Given the description of an element on the screen output the (x, y) to click on. 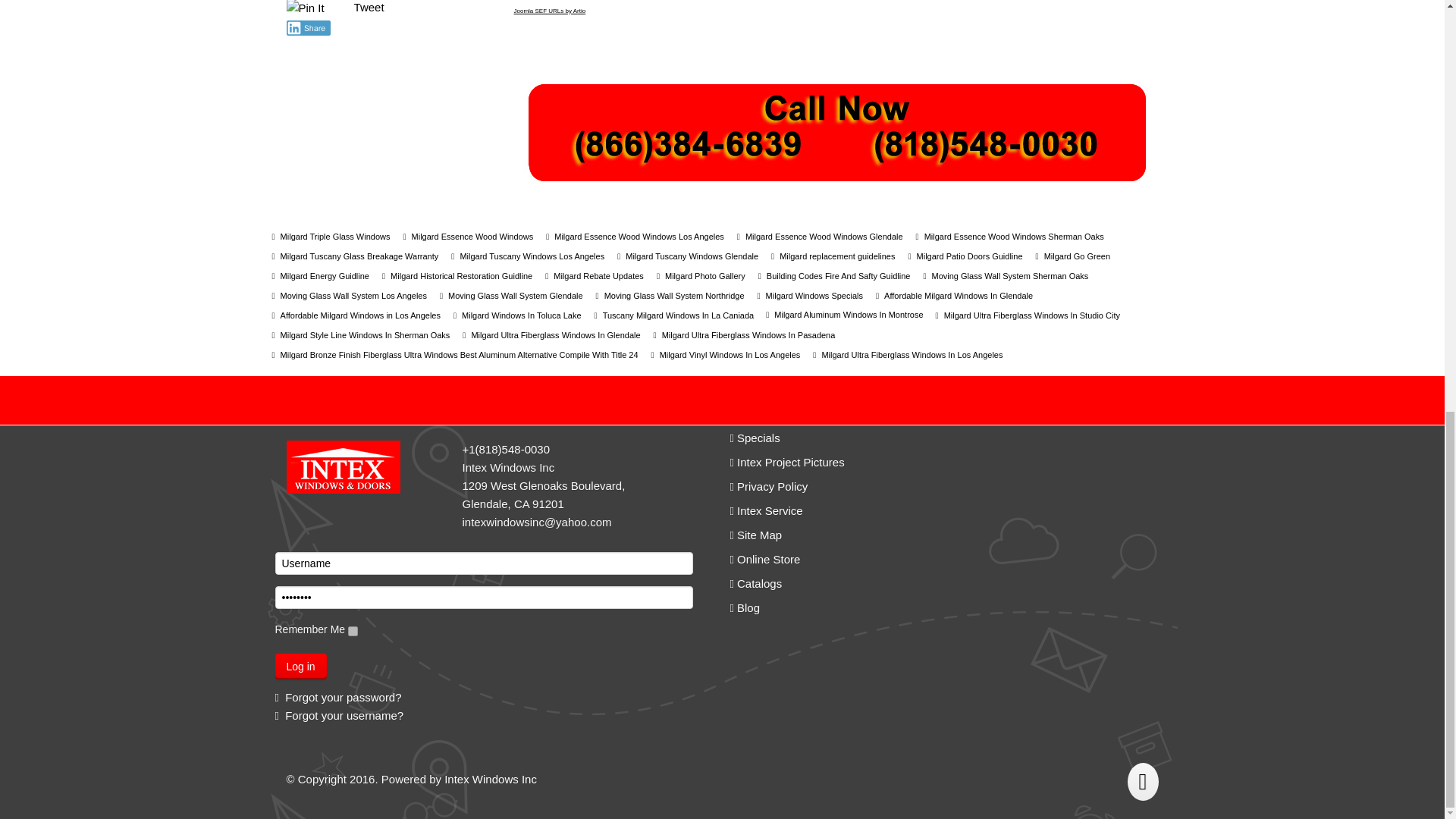
yes (352, 631)
Joomla SEF URLs by Artio (549, 10)
Username (484, 563)
Password (484, 597)
Pin It (305, 8)
Log in (300, 666)
